Given the description of an element on the screen output the (x, y) to click on. 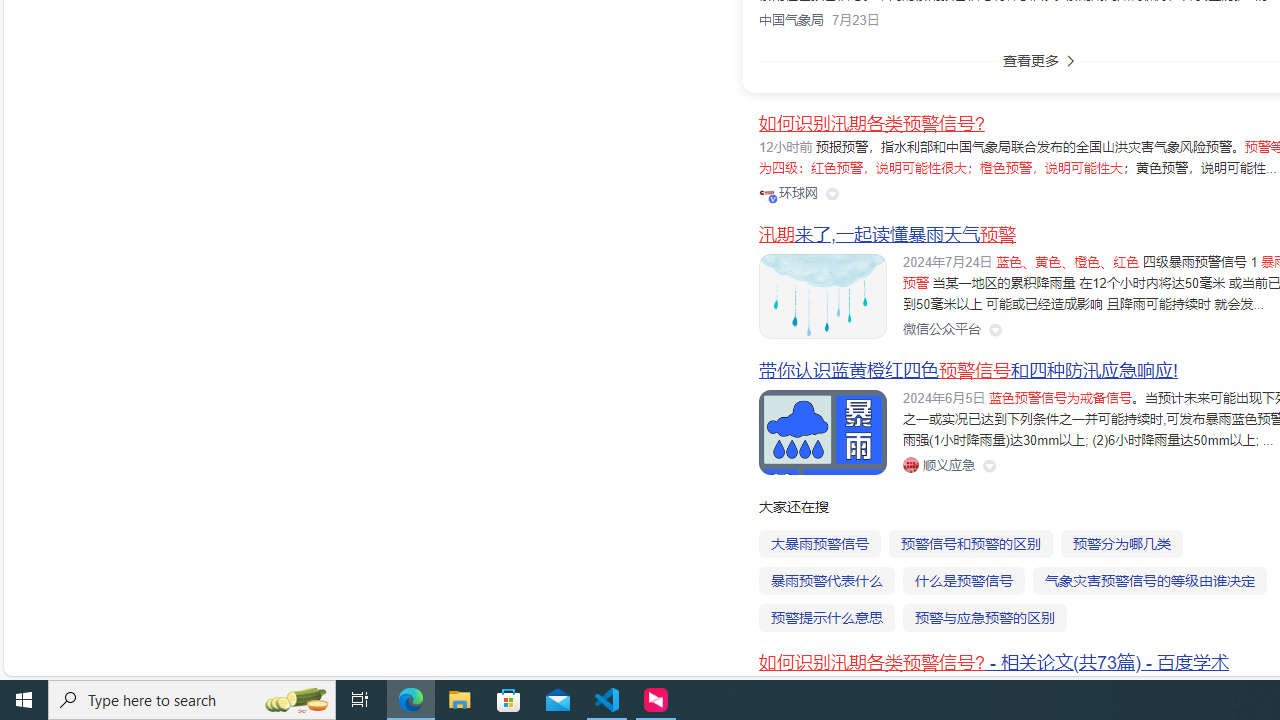
Class: siteLink_9TPP3 (938, 465)
Class: vip-icon_kNmNt (773, 198)
